Given the description of an element on the screen output the (x, y) to click on. 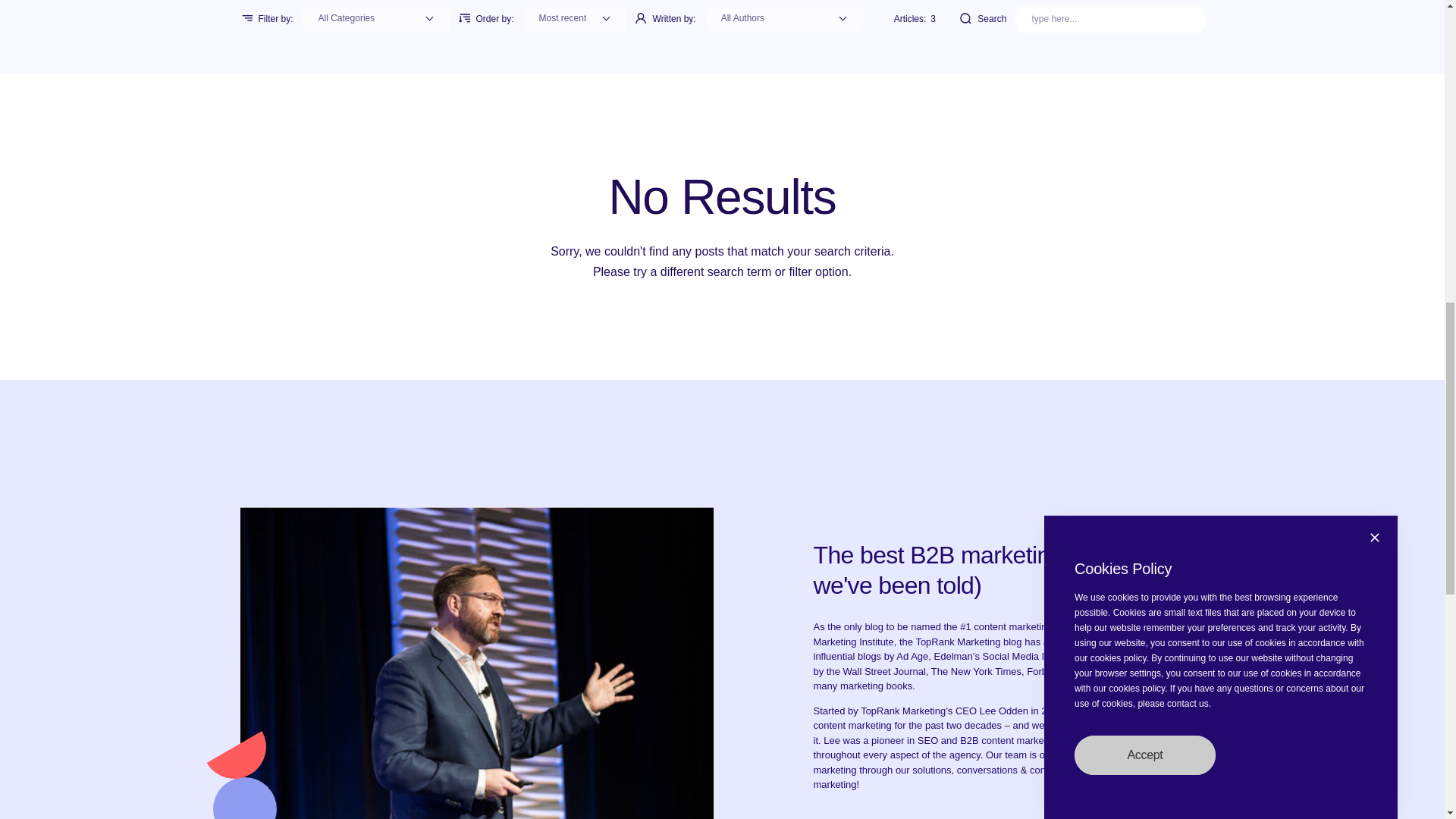
Search (1109, 18)
